Given the description of an element on the screen output the (x, y) to click on. 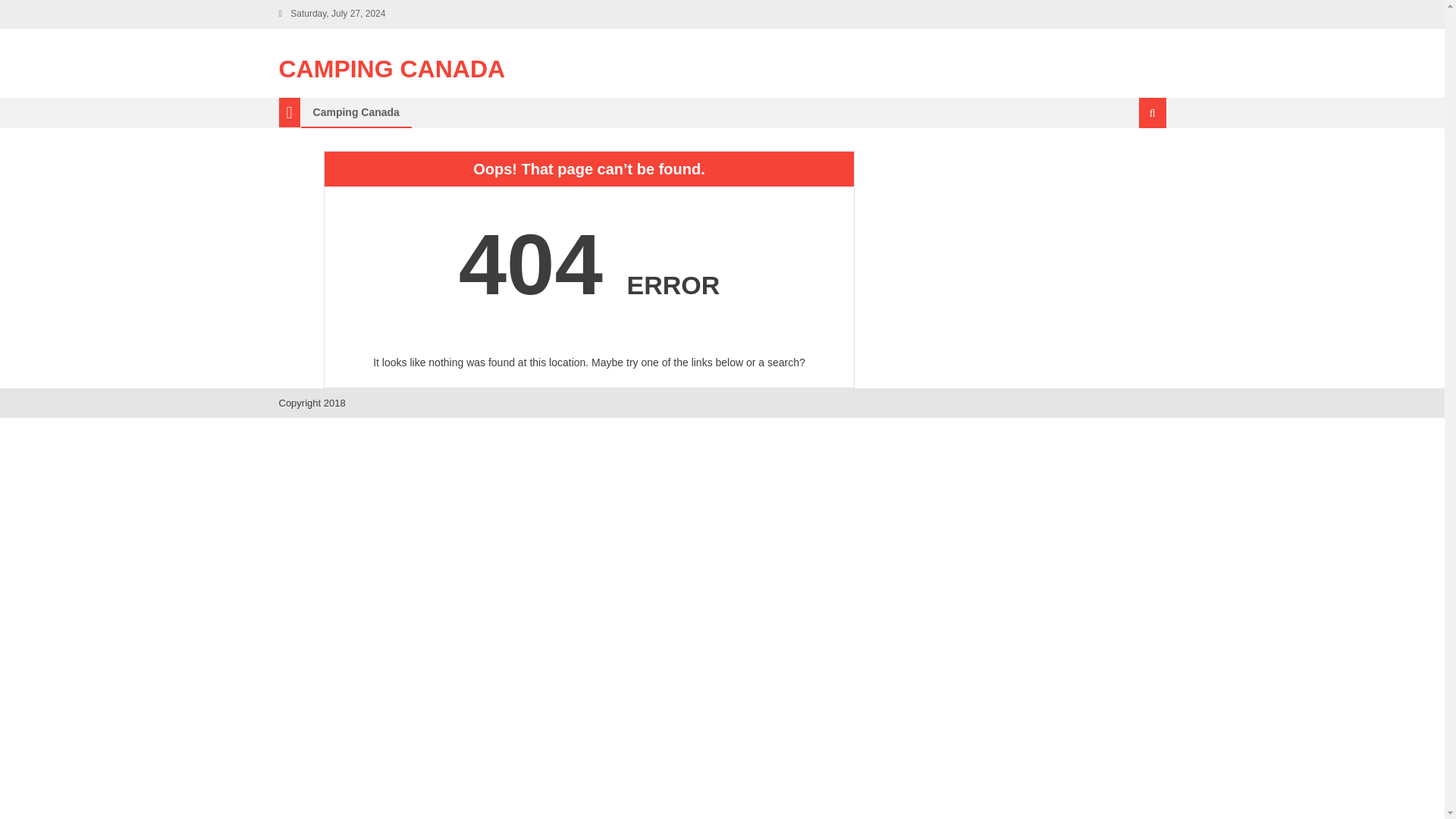
Search (1133, 163)
CAMPING CANADA (392, 68)
Camping Canada (355, 111)
